Given the description of an element on the screen output the (x, y) to click on. 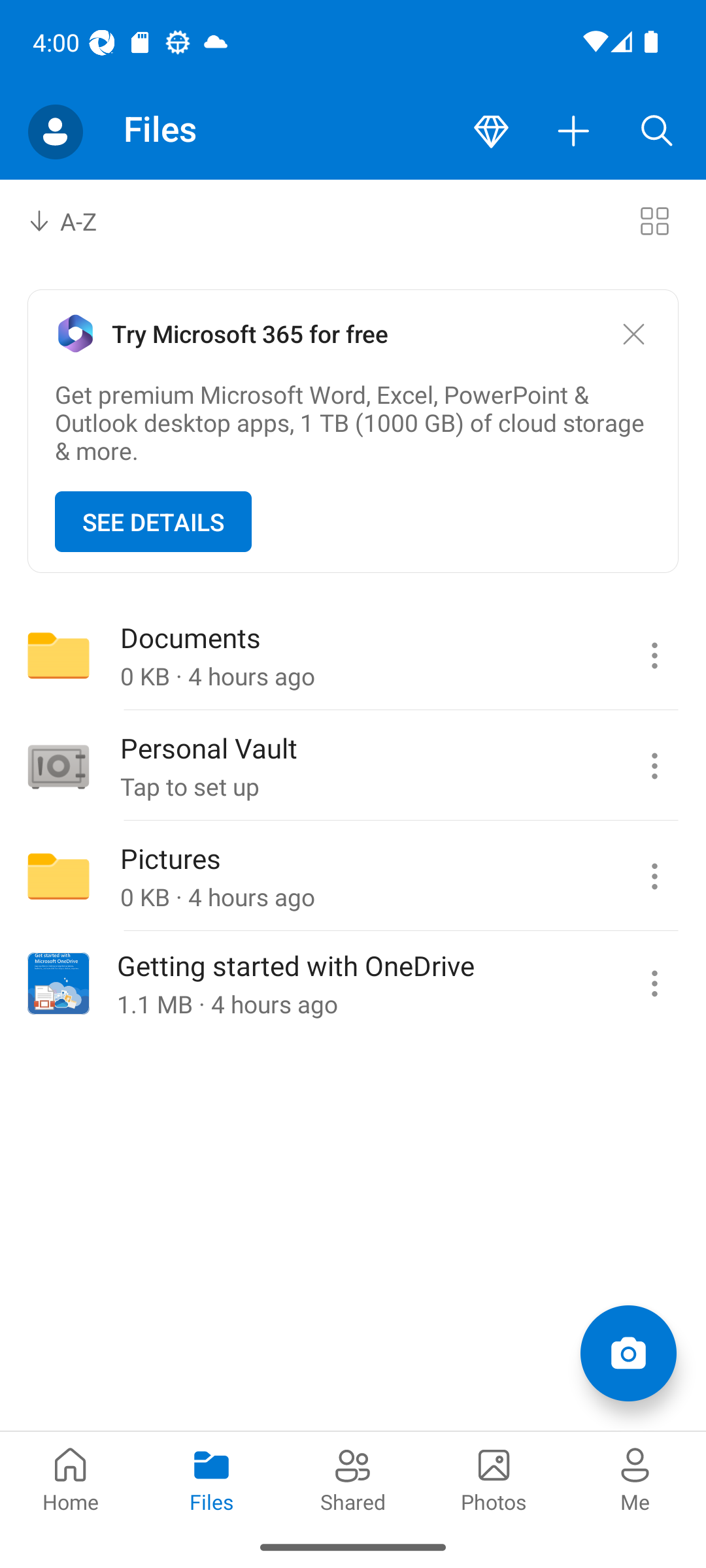
Account switcher (55, 131)
Premium button (491, 131)
More actions button (574, 131)
Search button (656, 131)
A-Z Sort by combo box, sort by name, A to Z (76, 220)
Switch to tiles view (654, 220)
Close (633, 334)
SEE DETAILS (153, 520)
Documents commands (654, 655)
Personal Vault commands (654, 765)
Pictures commands (654, 876)
Getting started with OneDrive commands (654, 982)
Add items Scan (628, 1352)
Home pivot Home (70, 1478)
Shared pivot Shared (352, 1478)
Photos pivot Photos (493, 1478)
Me pivot Me (635, 1478)
